Given the description of an element on the screen output the (x, y) to click on. 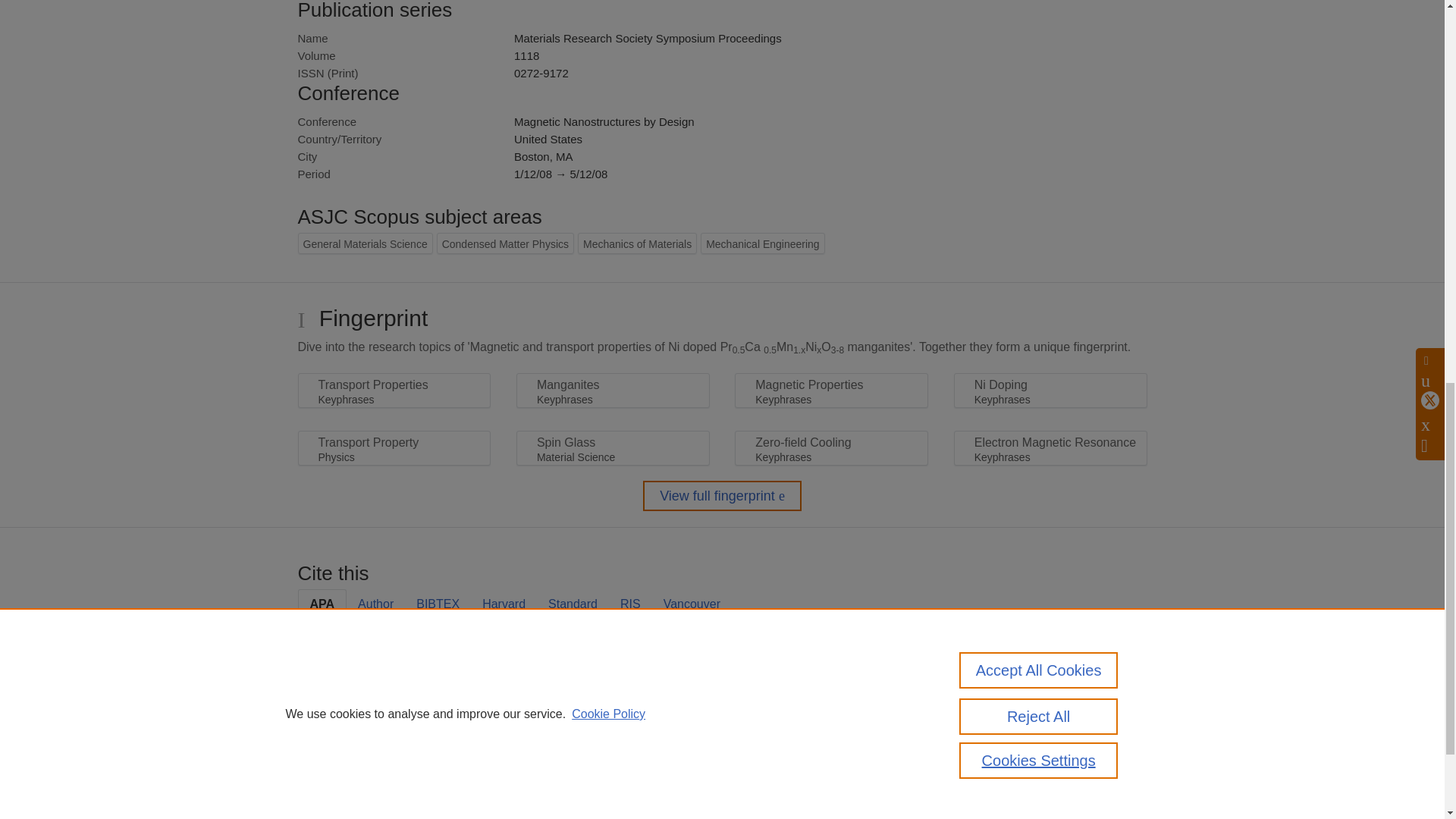
View full fingerprint (722, 495)
